Given the description of an element on the screen output the (x, y) to click on. 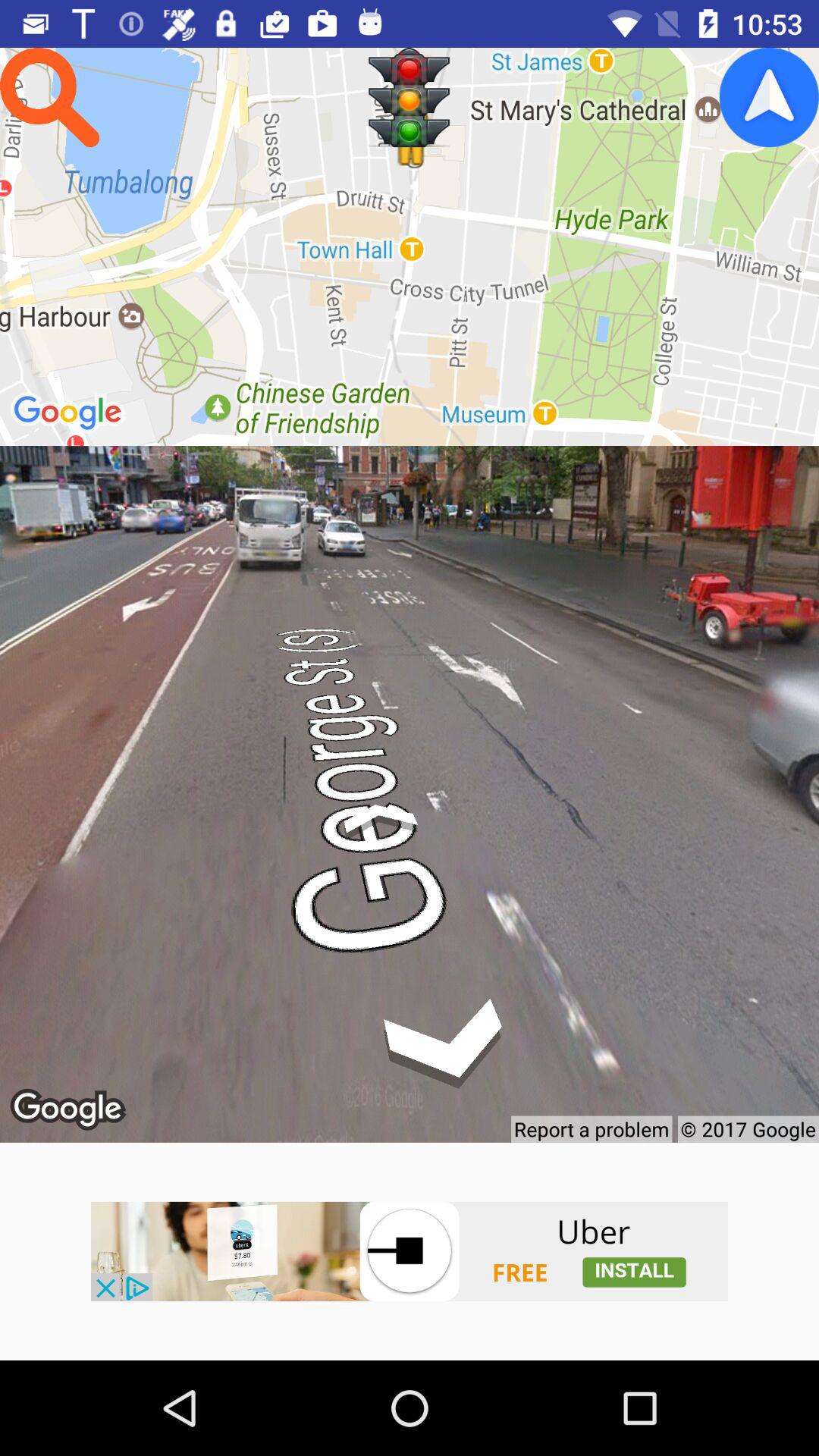
advertisement page (409, 1251)
